Given the description of an element on the screen output the (x, y) to click on. 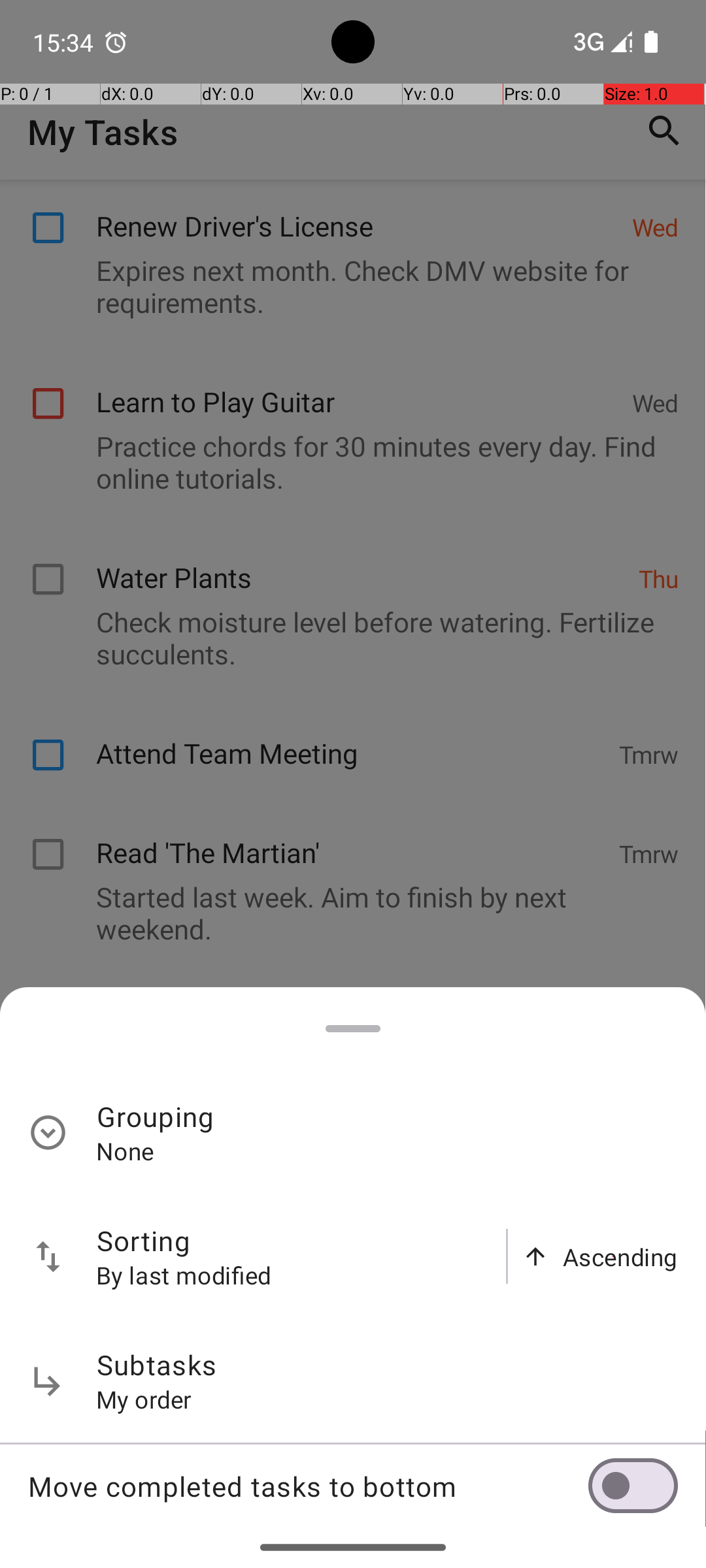
By last modified Element type: android.widget.TextView (183, 1274)
